Given the description of an element on the screen output the (x, y) to click on. 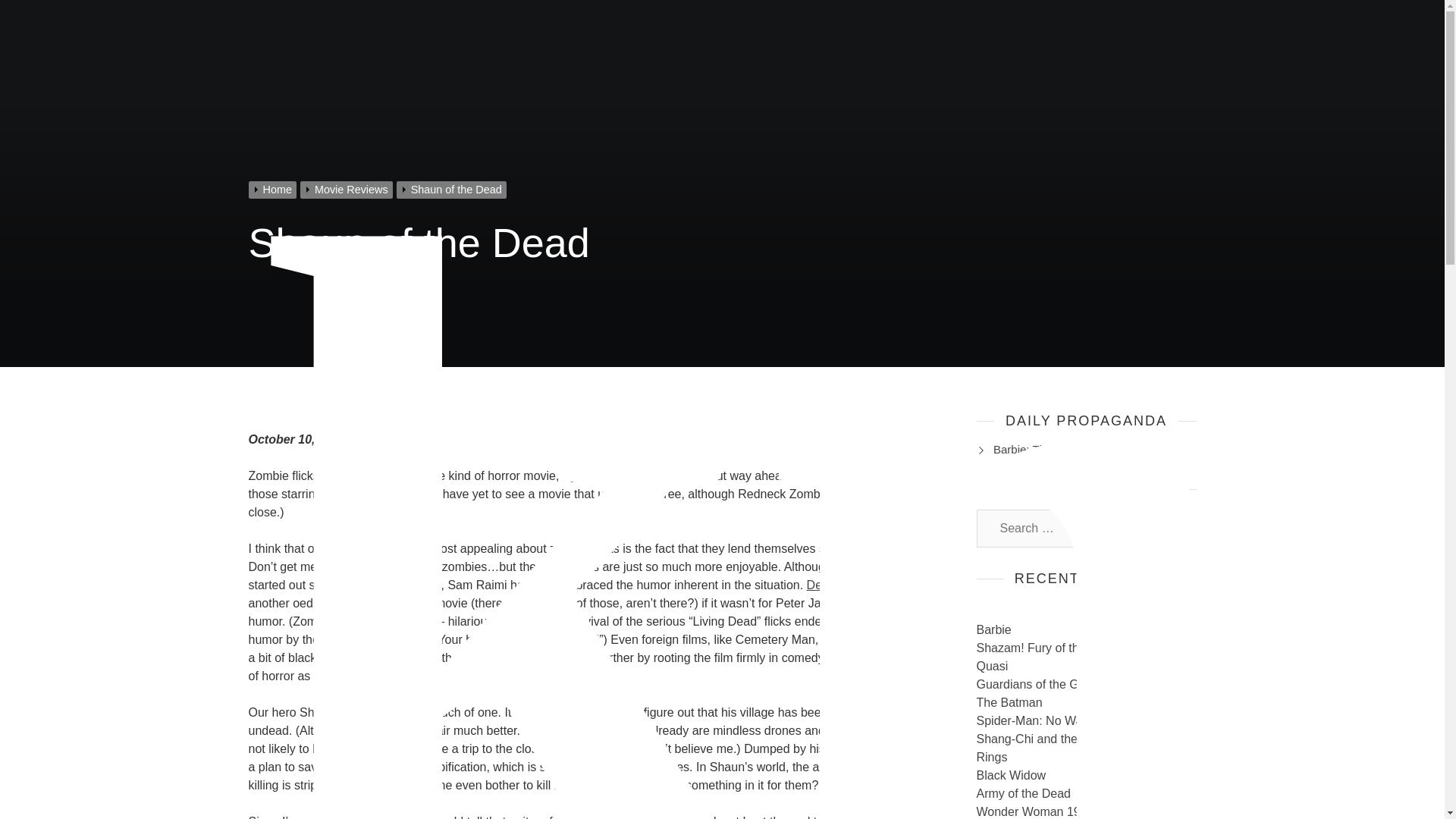
Search (1168, 528)
Guardians of the Galaxy Vol. 3 (1058, 684)
Spider-Man: No Way Home (1050, 720)
Evil Dead II (409, 584)
Quasi (992, 666)
The Batman (1009, 702)
Shang-Chi and the Legend of the Ten Rings (1076, 747)
Search (1168, 528)
Home (273, 189)
Dead Alive (835, 584)
